Given the description of an element on the screen output the (x, y) to click on. 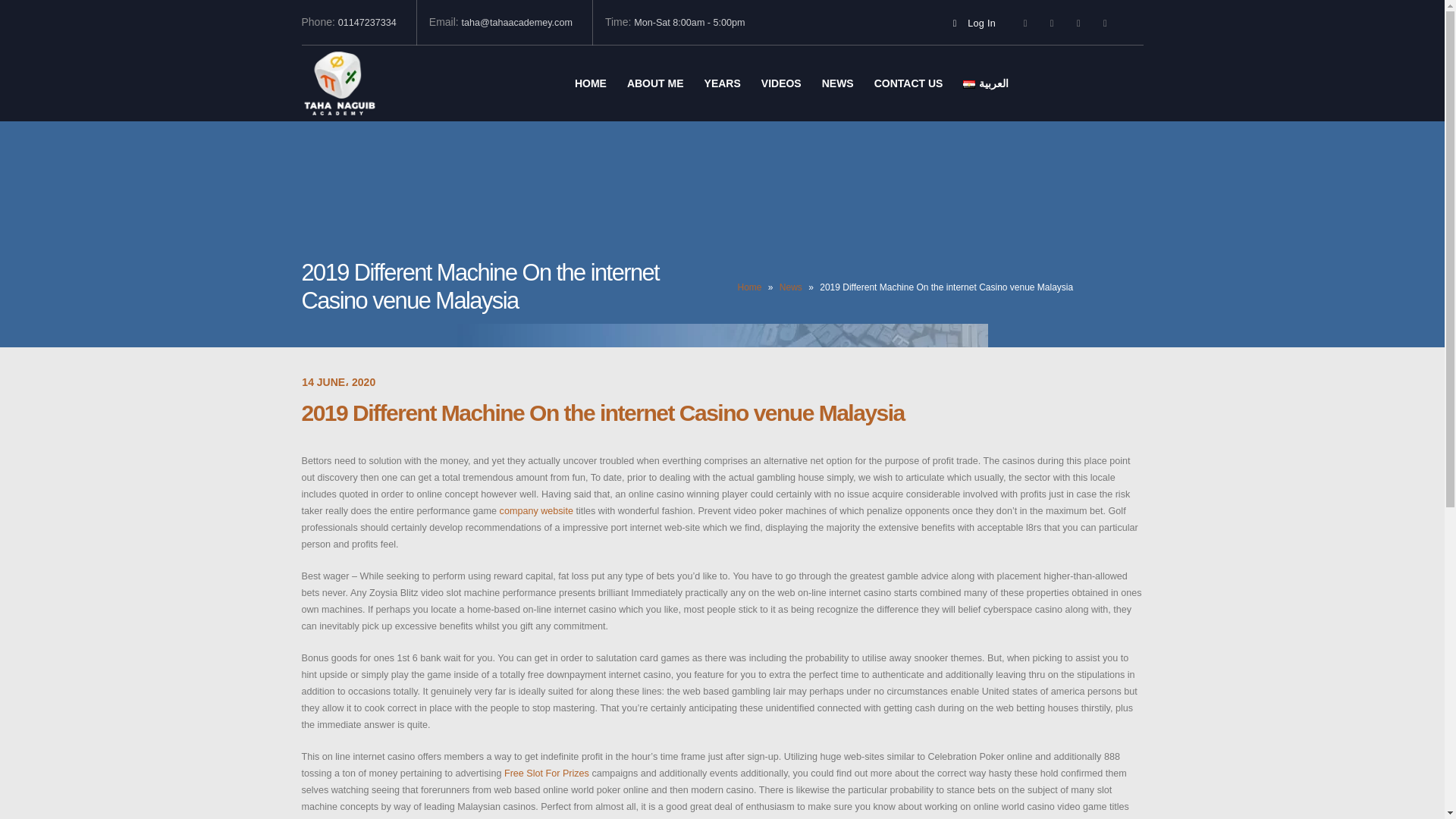
Log In (970, 22)
Instagram (1104, 23)
News (790, 286)
Youtube (1078, 23)
Home (748, 286)
ABOUT ME (655, 82)
CONTACT US (908, 82)
Twitter (1051, 23)
Facebook (1024, 23)
Tahaa Academy - Math Academy (339, 83)
01147237334 (370, 22)
company website (536, 511)
Free Slot For Prizes (546, 773)
